Given the description of an element on the screen output the (x, y) to click on. 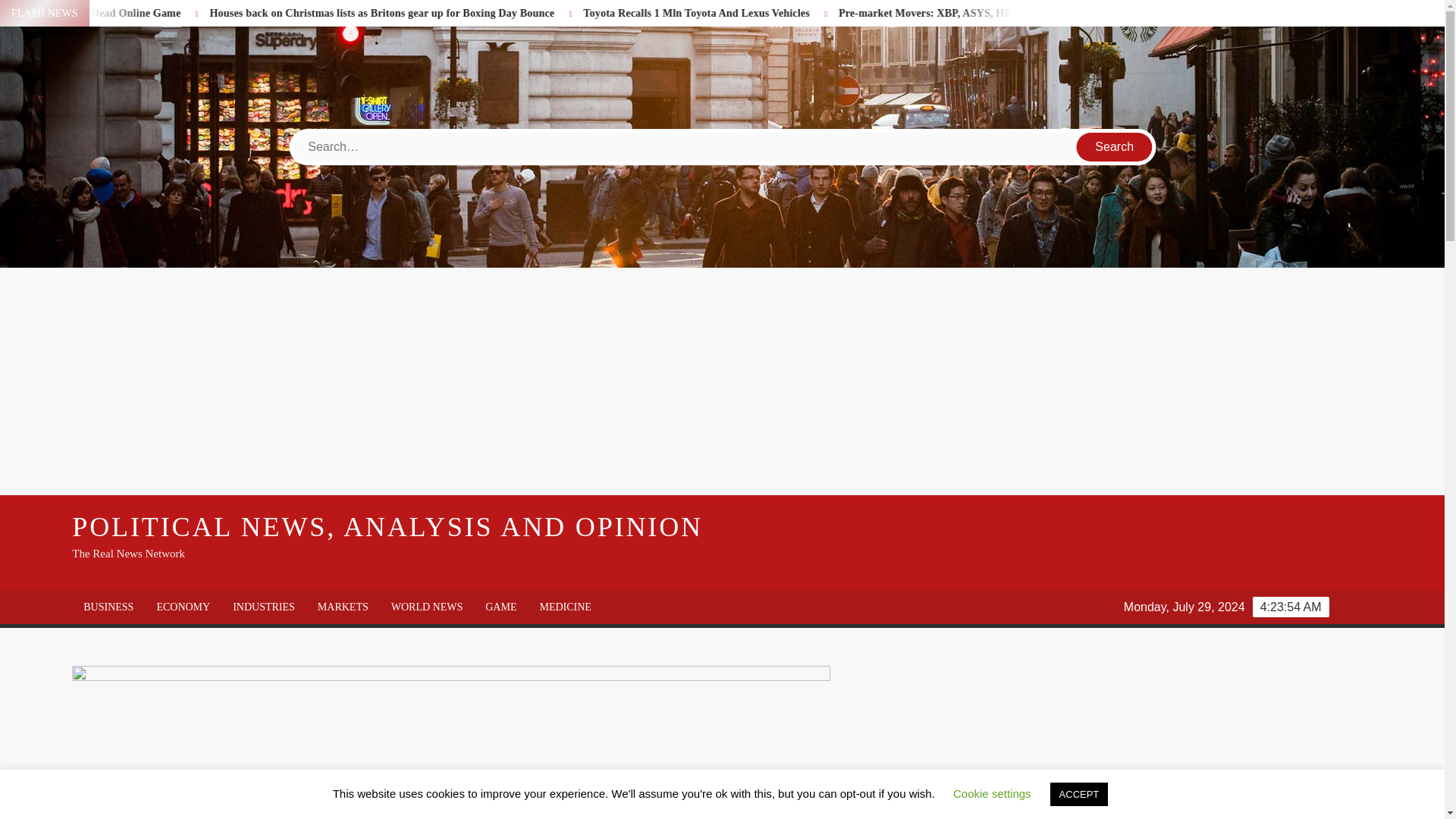
MARKETS (342, 606)
Toyota Recalls 1 Mln Toyota And Lexus Vehicles (865, 12)
MEDICINE (564, 606)
BUSINESS (107, 606)
Search (1115, 146)
Search (1115, 146)
ECONOMY (182, 606)
Search (1115, 146)
POLITICAL NEWS, ANALYSIS AND OPINION (387, 526)
GAME (500, 606)
WORLD NEWS (427, 606)
Toyota Recalls 1 Mln Toyota And Lexus Vehicles (810, 12)
INDUSTRIES (263, 606)
